Given the description of an element on the screen output the (x, y) to click on. 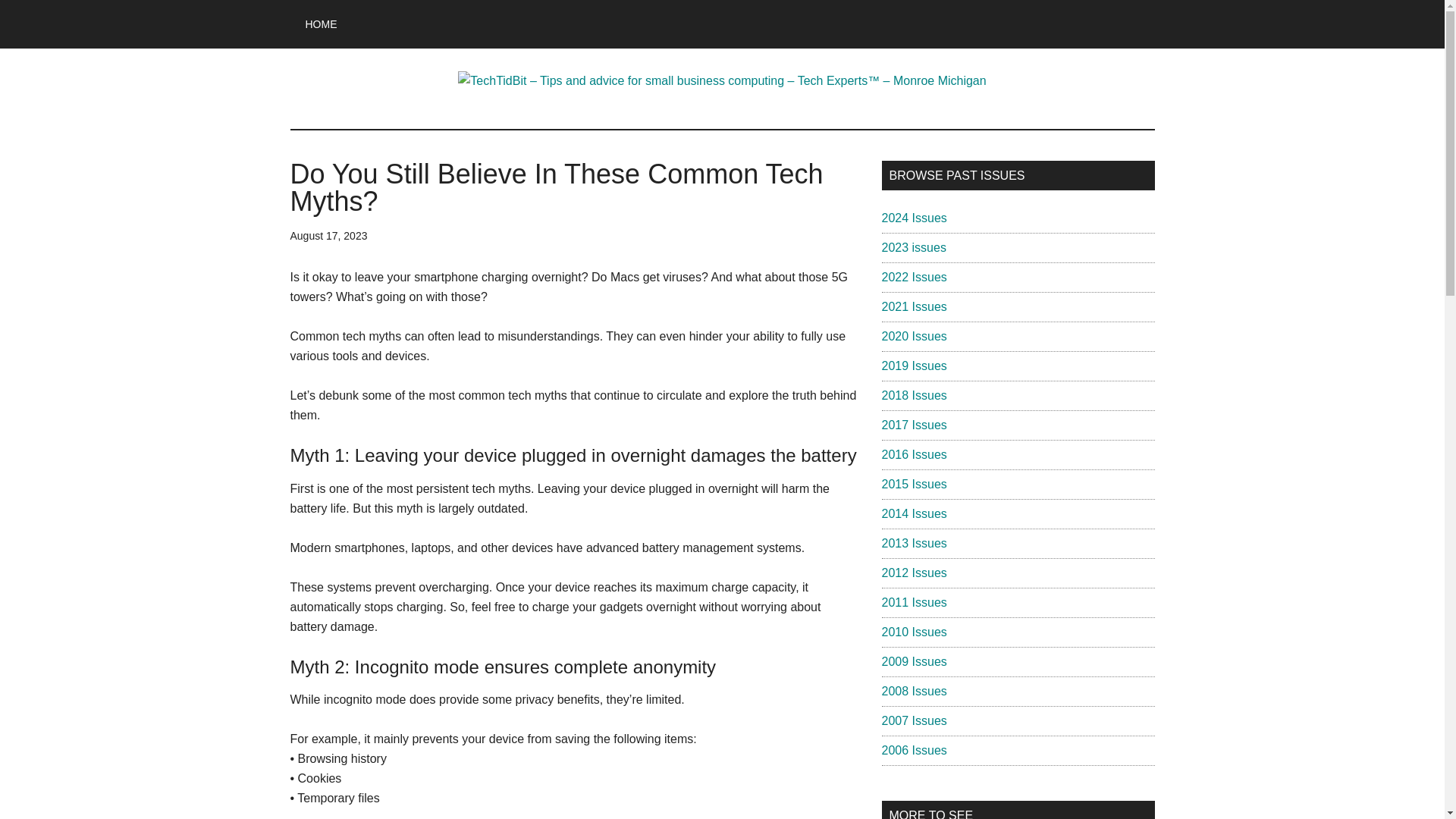
2017 Issues (913, 424)
2019 Issues (913, 365)
2018 Issues (913, 395)
2024 Issues (913, 217)
2013 Issues (913, 543)
2011 Issues (913, 602)
2007 Issues (913, 720)
2014 Issues (913, 513)
2008 Issues (913, 690)
2009 Issues (913, 661)
2010 Issues (913, 631)
HOME (320, 24)
2006 Issues (913, 749)
2016 Issues (913, 454)
